Given the description of an element on the screen output the (x, y) to click on. 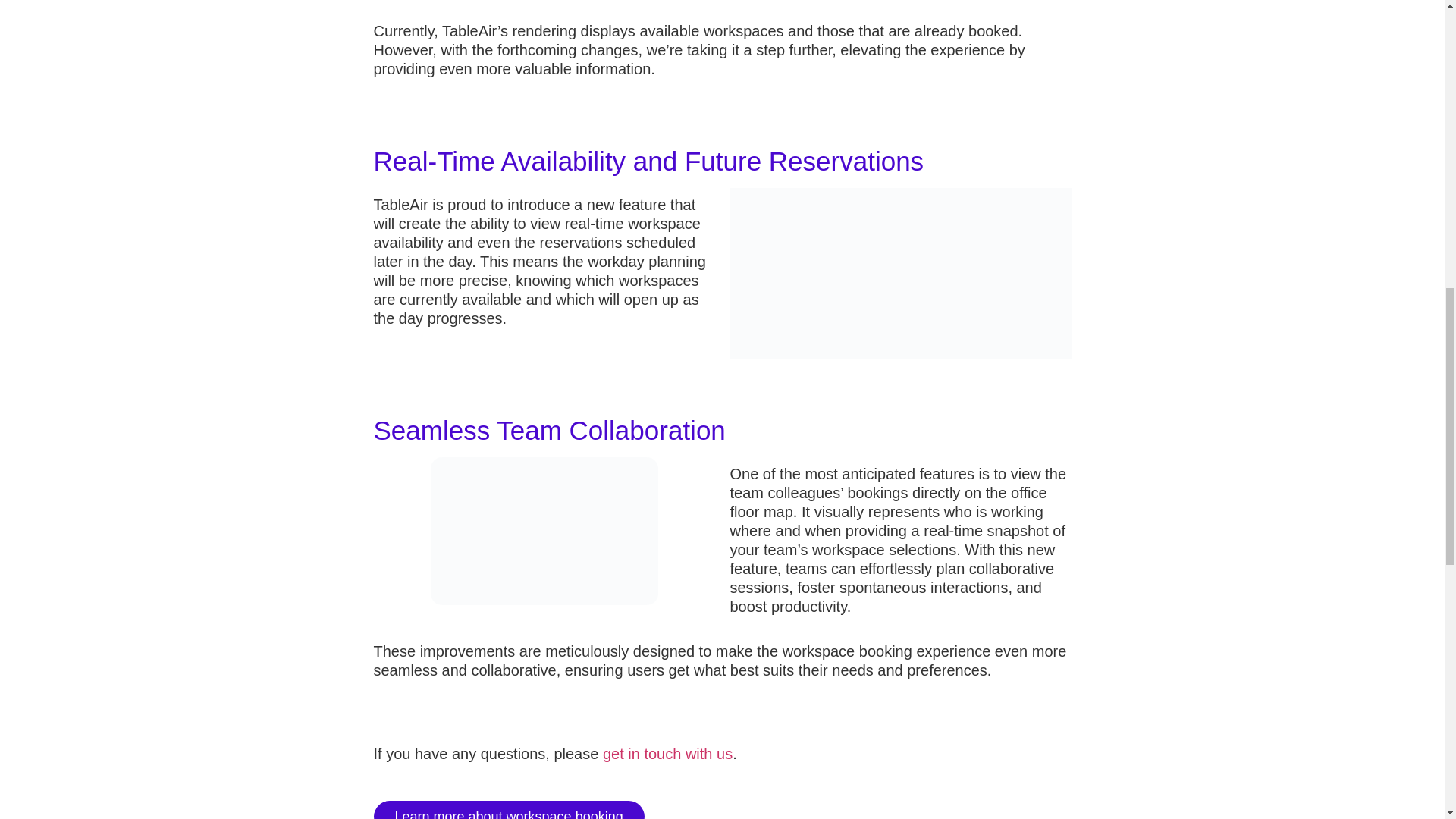
get in touch with us (667, 753)
Learn more about workspace booking (507, 809)
